Given the description of an element on the screen output the (x, y) to click on. 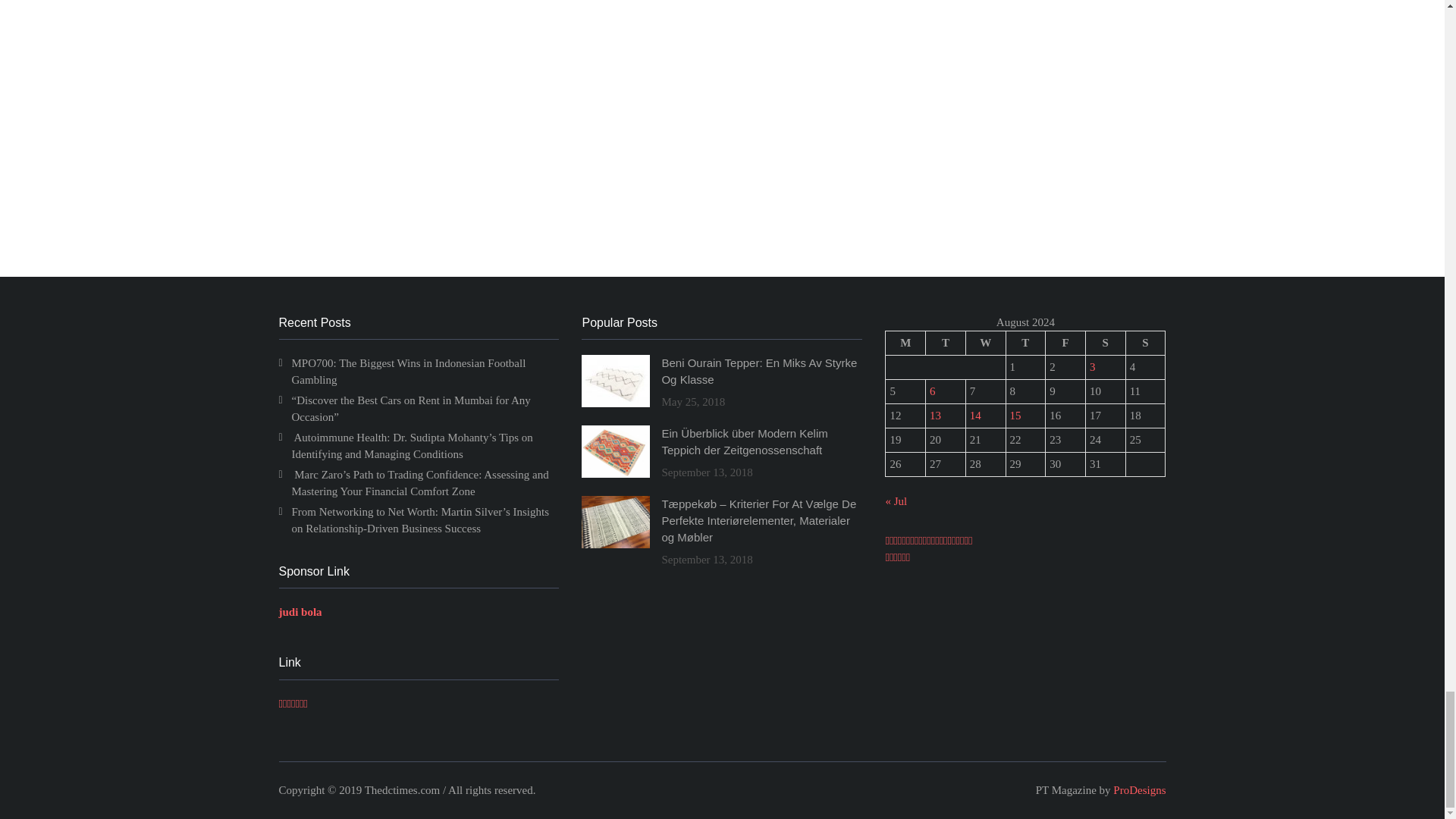
Sunday (1145, 342)
Friday (1065, 342)
Tuesday (946, 342)
Monday (905, 342)
Wednesday (985, 342)
Saturday (1104, 342)
Thursday (1025, 342)
